Given the description of an element on the screen output the (x, y) to click on. 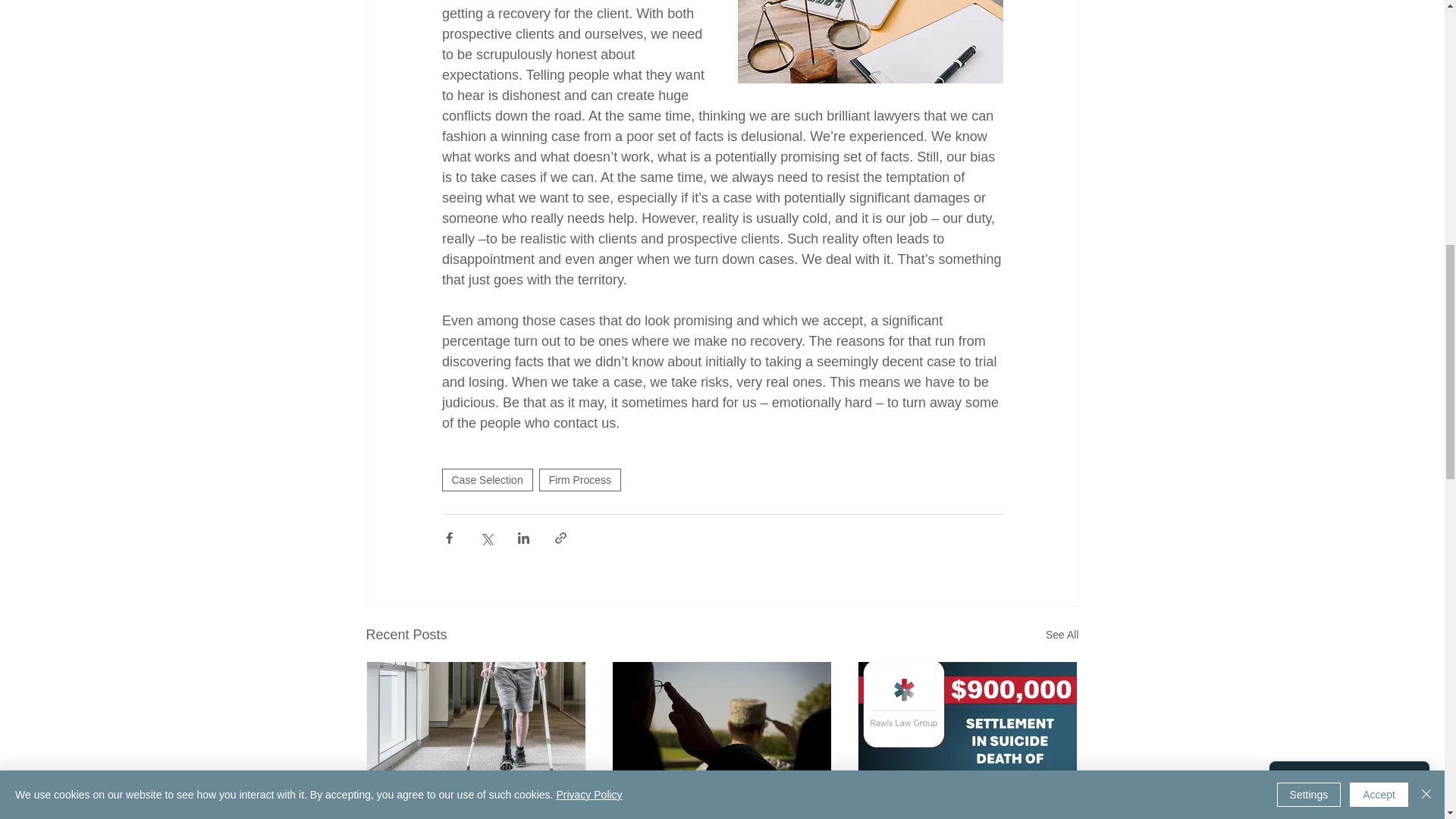
VETERAN COMMITS SUICIDE INSIDE PITTSBURGH VA HOSPITAL (721, 811)
Firm Process (579, 479)
Case Selection (486, 479)
See All (1061, 635)
Veterans Denied Needed Medical Devices (476, 811)
